Given the description of an element on the screen output the (x, y) to click on. 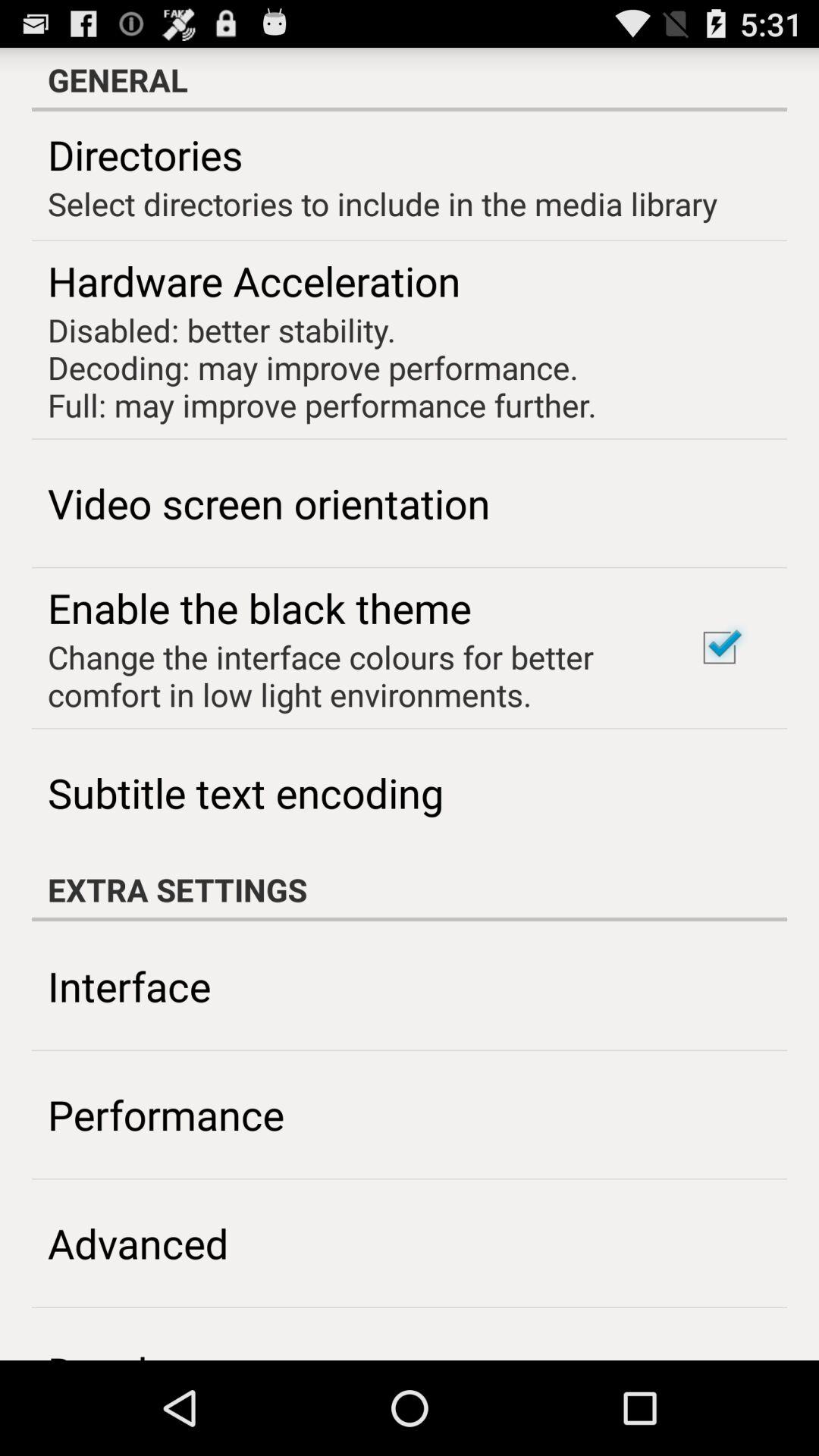
press the app above interface item (409, 889)
